Given the description of an element on the screen output the (x, y) to click on. 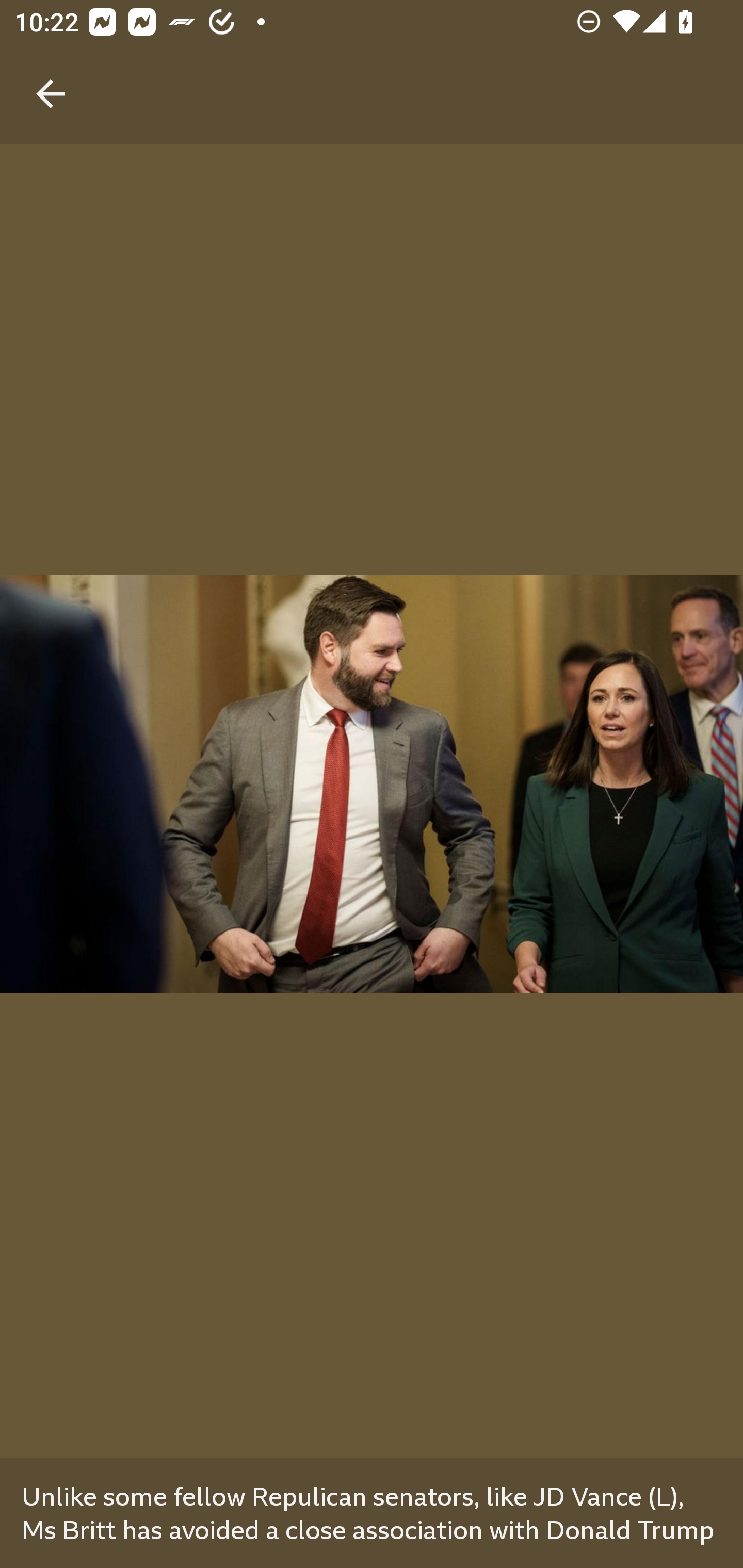
Back (50, 72)
